Given the description of an element on the screen output the (x, y) to click on. 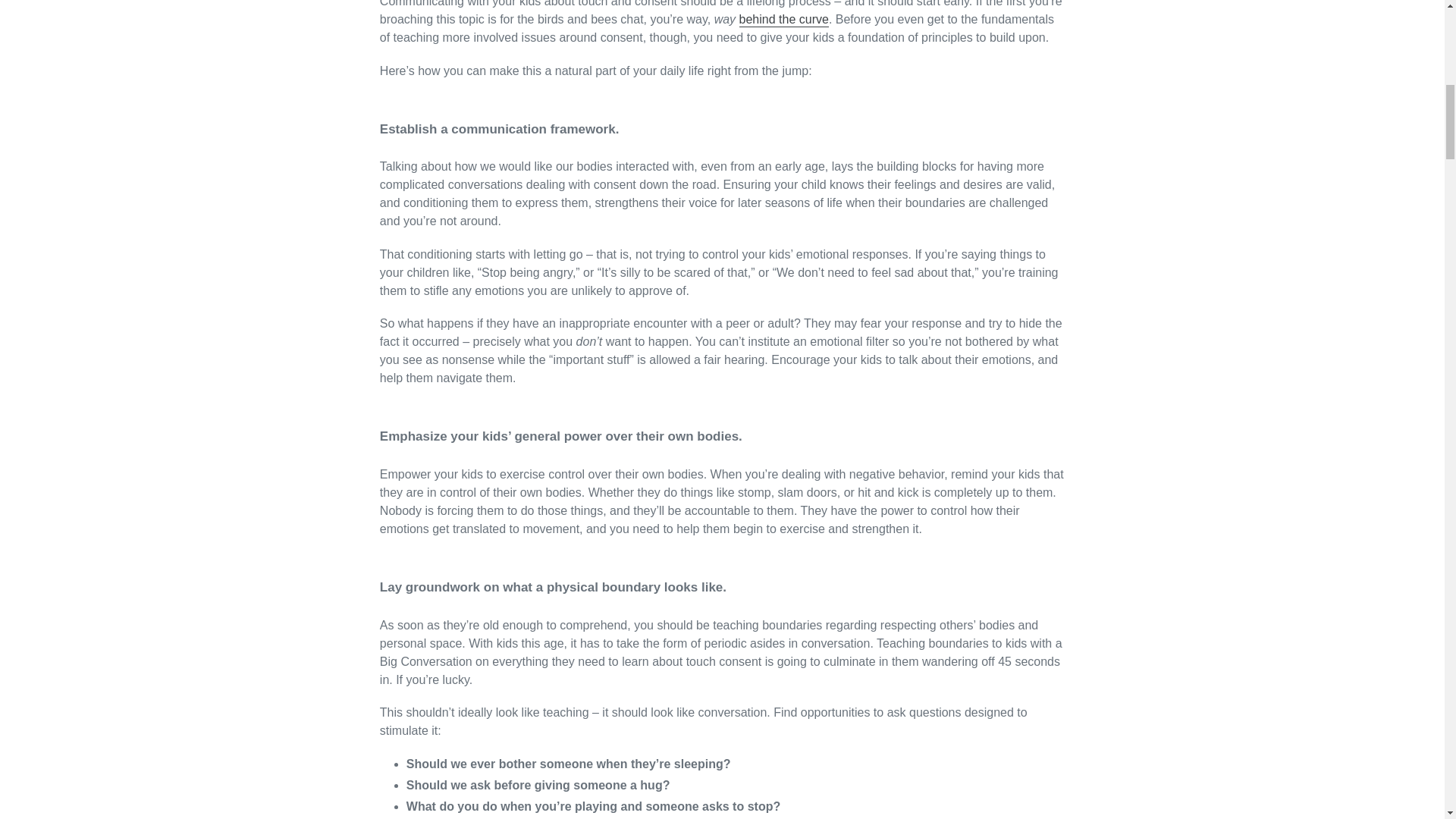
behind the curve (783, 20)
